Given the description of an element on the screen output the (x, y) to click on. 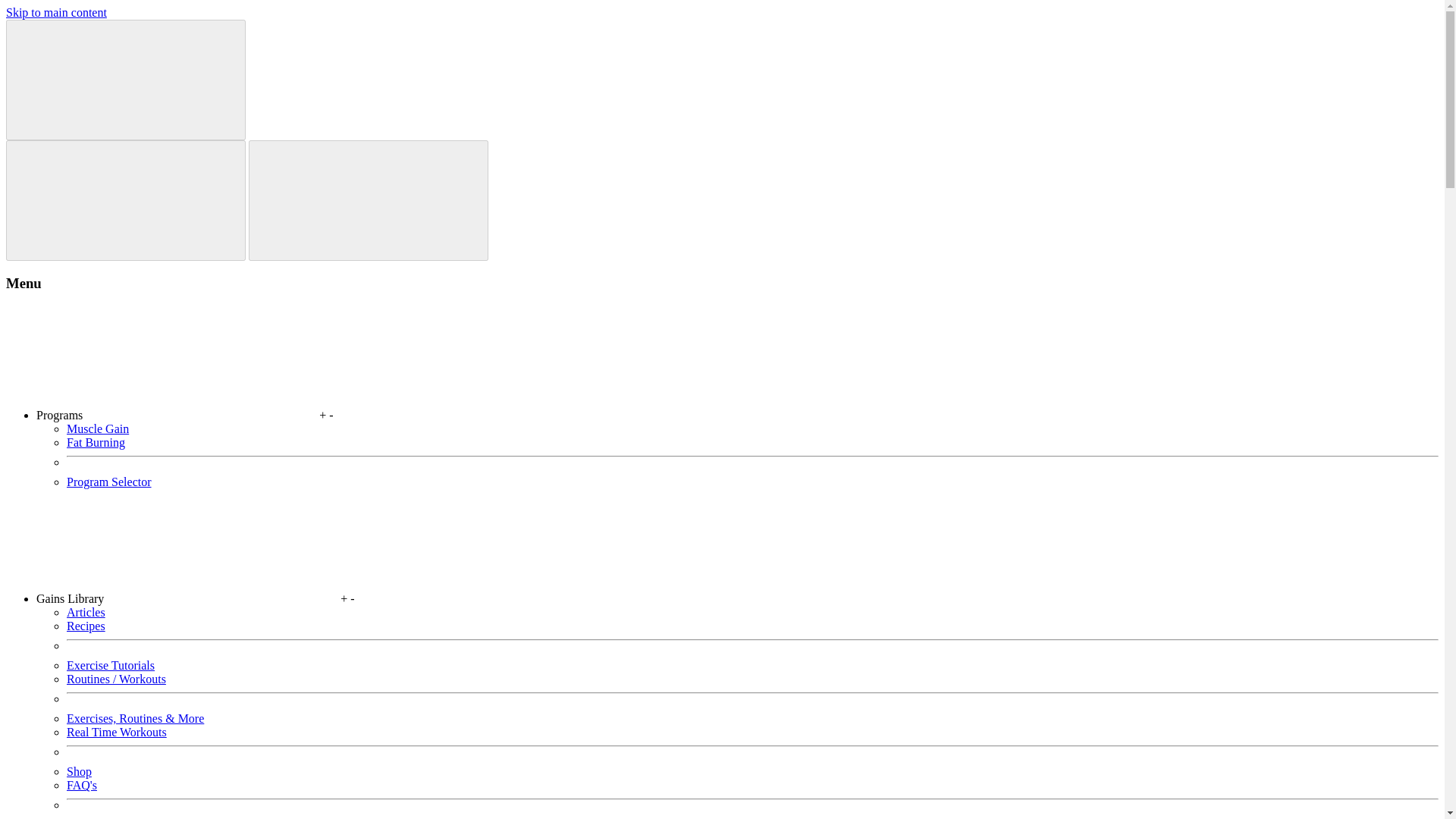
MEAL PLANNER  (744, 23)
Go To Muscularstrength.com (343, 22)
FORUM  (1037, 22)
FAQs (848, 23)
